Given the description of an element on the screen output the (x, y) to click on. 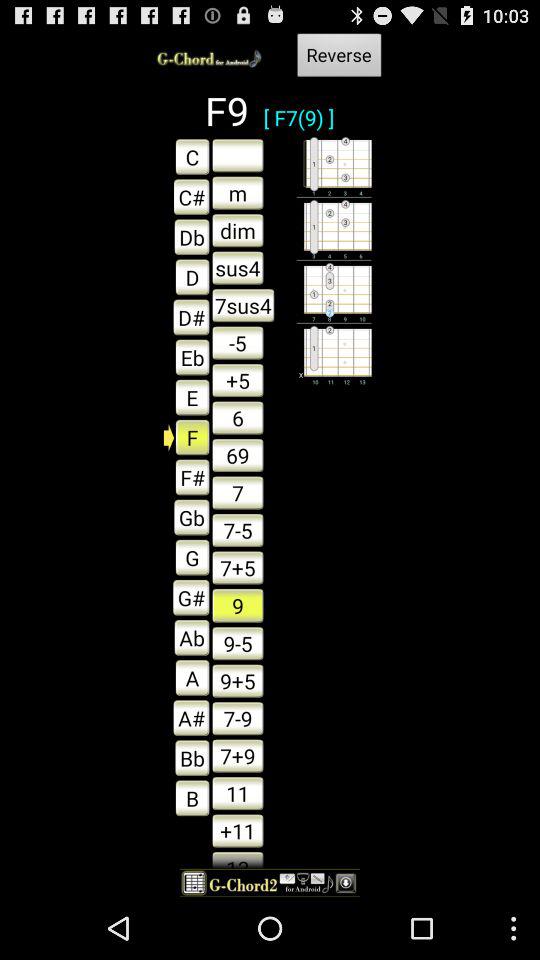
adicionar nota musical (237, 155)
